Given the description of an element on the screen output the (x, y) to click on. 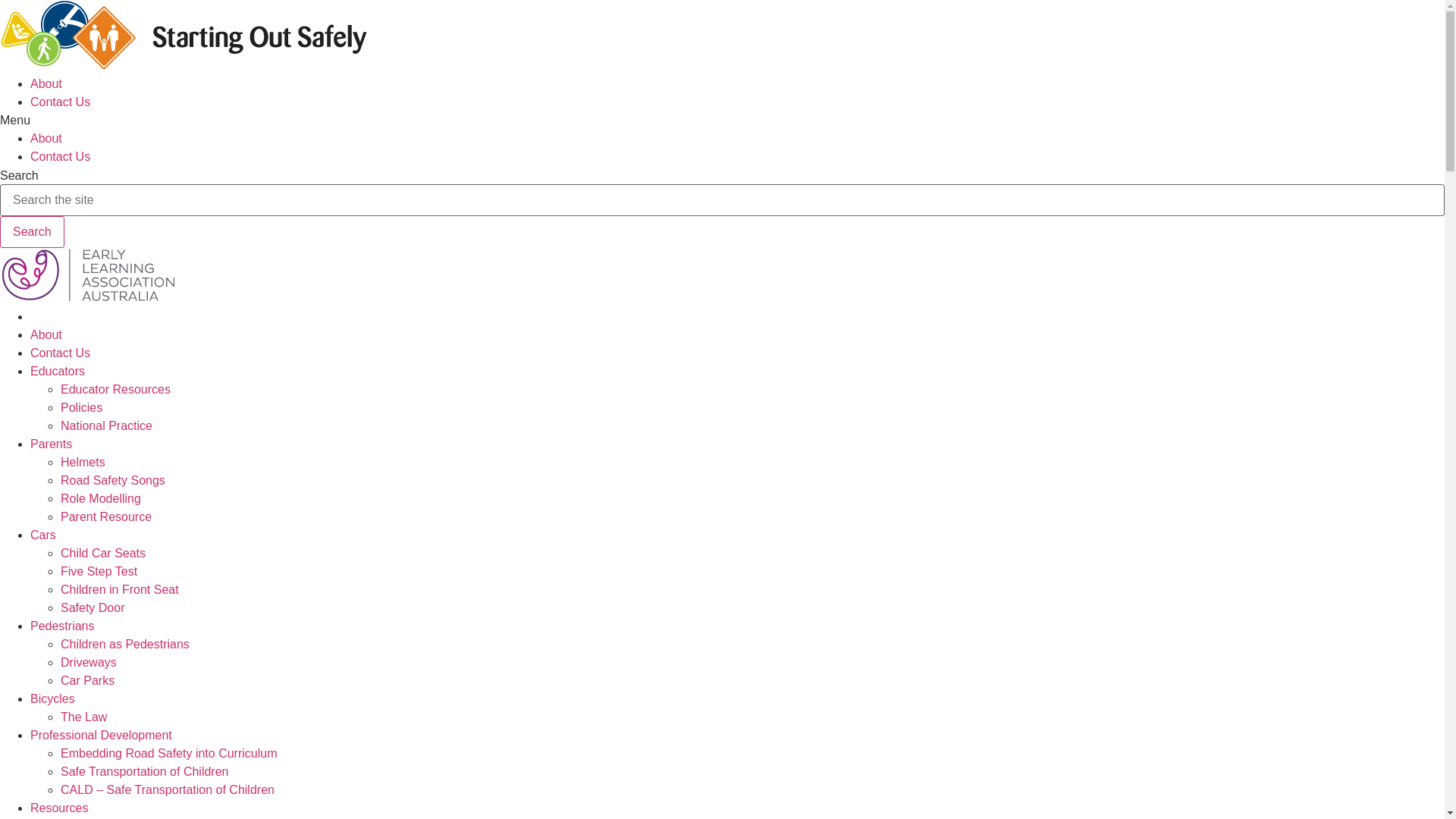
Safe Transportation of Children Element type: text (144, 771)
Road Safety Songs Element type: text (112, 479)
About Element type: text (46, 83)
Embedding Road Safety into Curriculum Element type: text (168, 752)
Child Car Seats Element type: text (102, 552)
Policies Element type: text (81, 407)
Helmets Element type: text (82, 461)
Cars Element type: text (43, 534)
Professional Development Element type: text (101, 734)
Contact Us Element type: text (60, 156)
About Element type: text (46, 137)
Five Step Test Element type: text (98, 570)
Car Parks Element type: text (87, 680)
The Law Element type: text (83, 716)
Contact Us Element type: text (60, 352)
Role Modelling Element type: text (100, 498)
Bicycles Element type: text (52, 698)
Driveways Element type: text (88, 661)
Resources Element type: text (58, 807)
Educators Element type: text (57, 370)
Safety Door Element type: text (92, 607)
Children as Pedestrians Element type: text (124, 643)
Contact Us Element type: text (60, 101)
Pedestrians Element type: text (62, 625)
National Practice Element type: text (106, 425)
Parents Element type: text (51, 443)
Children in Front Seat Element type: text (119, 589)
Educator Resources Element type: text (115, 388)
Search Element type: text (32, 231)
Parent Resource Element type: text (105, 516)
About Element type: text (46, 334)
